Given the description of an element on the screen output the (x, y) to click on. 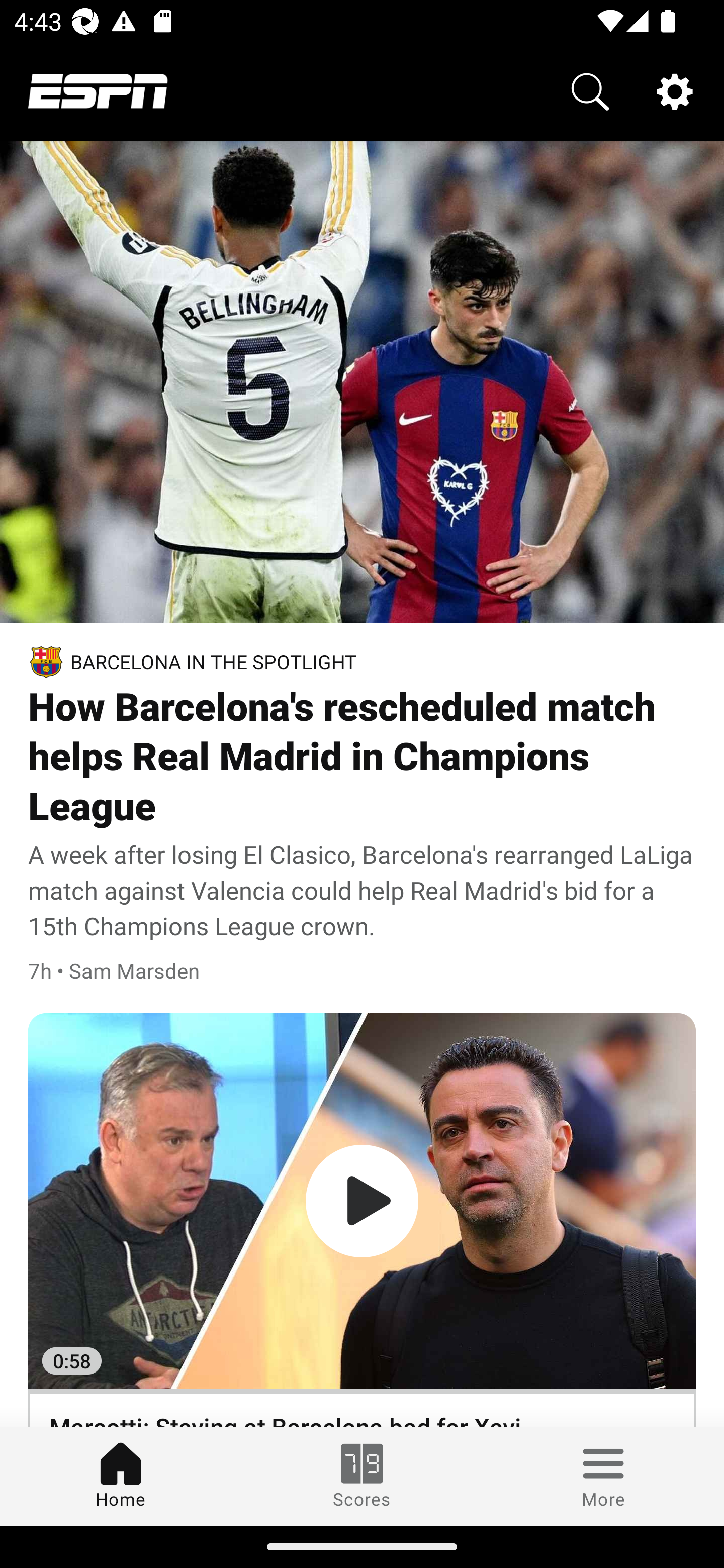
Search (590, 90)
Settings (674, 90)
 0:58 Marcotti: Staying at Barcelona bad for Xavi (361, 1219)
Scores (361, 1475)
More (603, 1475)
